Given the description of an element on the screen output the (x, y) to click on. 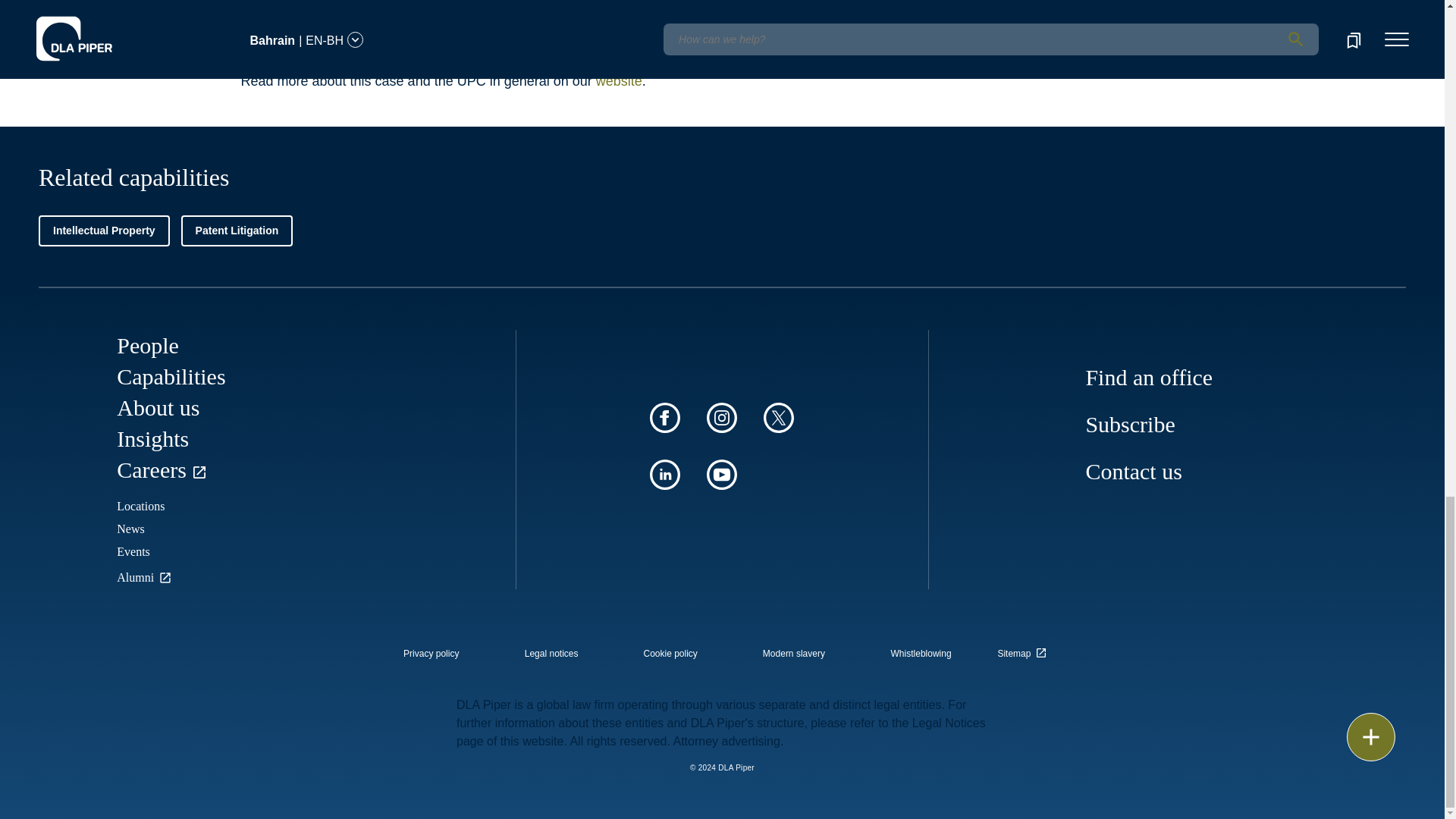
internal (920, 653)
internal (549, 653)
internal (793, 653)
internal (430, 653)
external (1024, 649)
internal (670, 653)
